Given the description of an element on the screen output the (x, y) to click on. 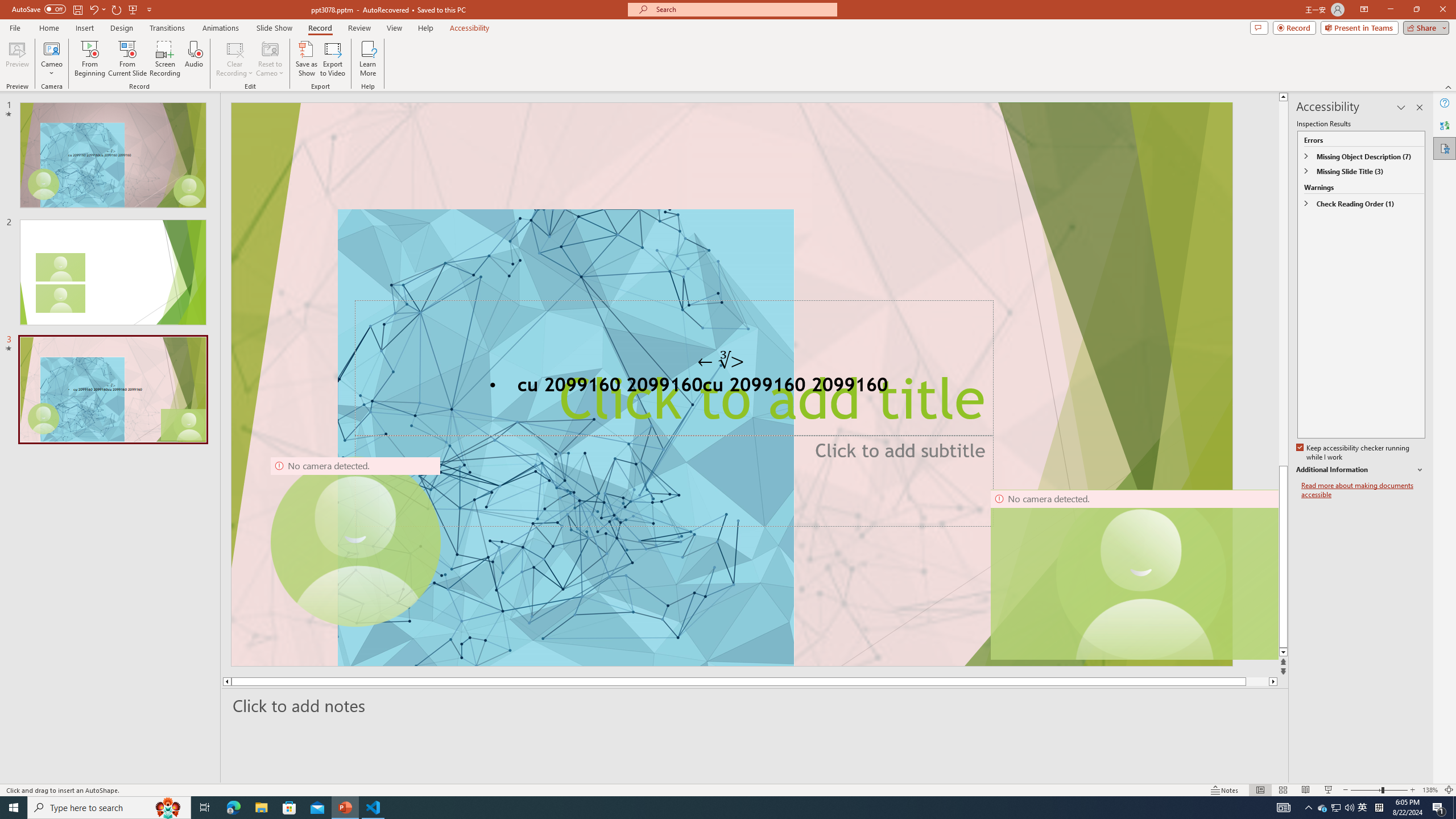
Camera 9, No camera detected. (355, 542)
